Given the description of an element on the screen output the (x, y) to click on. 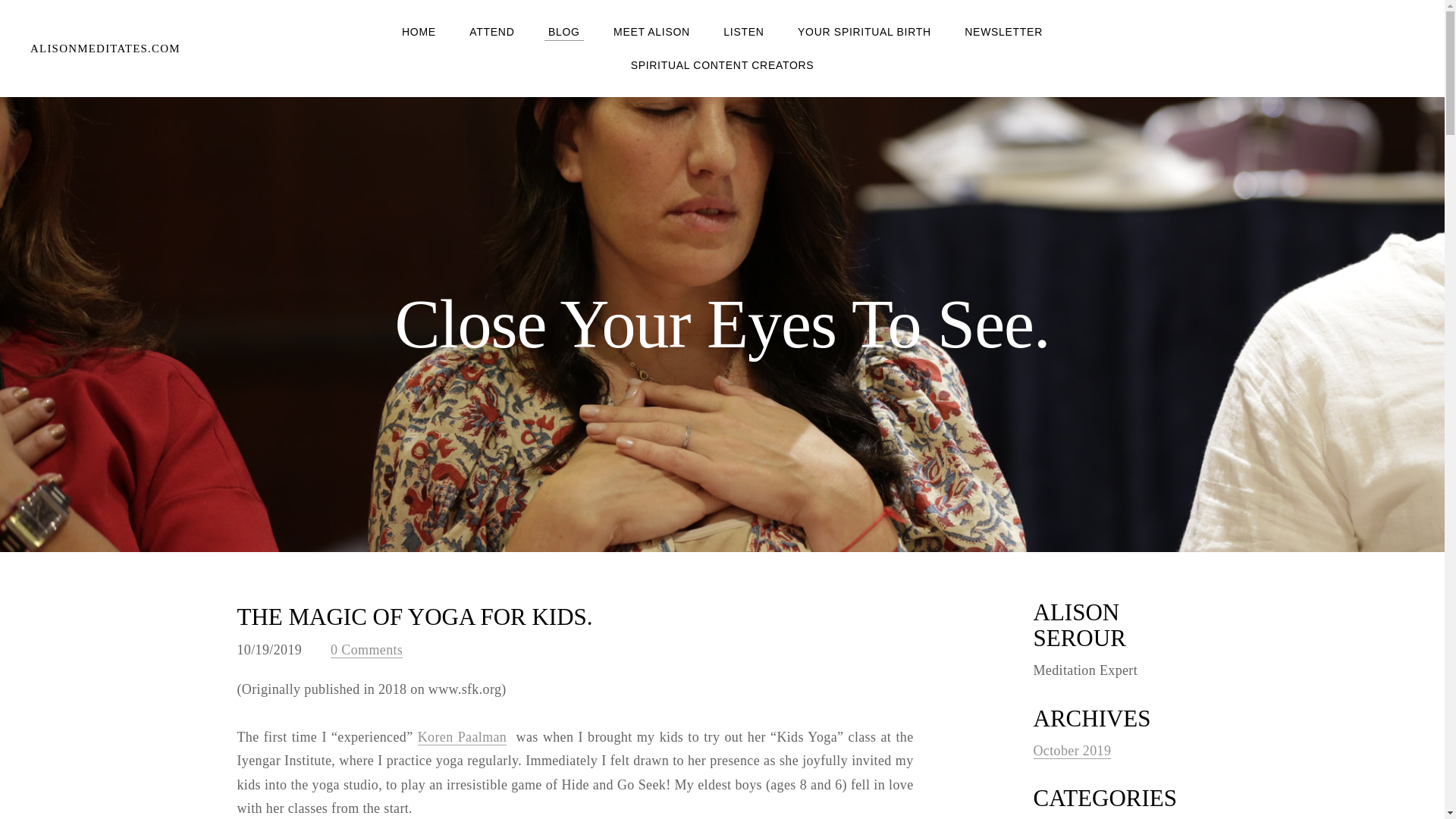
BLOG (563, 31)
SPIRITUAL CONTENT CREATORS (722, 64)
LISTEN (742, 31)
0 Comments (366, 649)
HOME (419, 31)
October 2019 (1071, 750)
ATTEND (491, 31)
NEWSLETTER (1003, 31)
THE MAGIC OF YOGA FOR KIDS. (413, 616)
Koren Paalman (461, 737)
